Given the description of an element on the screen output the (x, y) to click on. 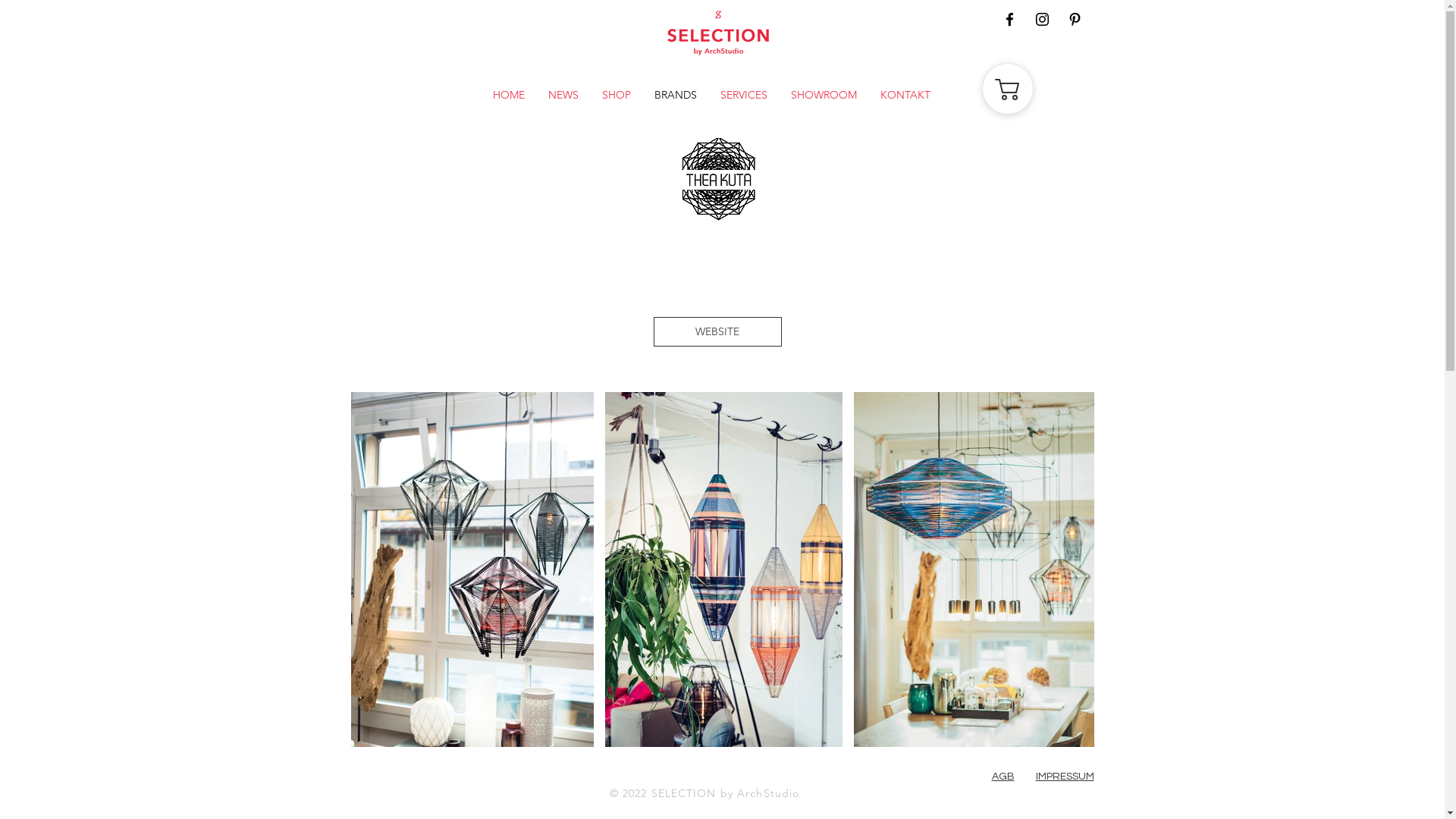
AGB Element type: text (1002, 776)
SHOWROOM Element type: text (823, 94)
SERVICES Element type: text (743, 94)
BRANDS Element type: text (675, 94)
HOME Element type: text (507, 94)
SHOP Element type: text (615, 94)
KONTAKT Element type: text (905, 94)
Online Store Element type: hover (993, 89)
WEBSITE Element type: text (717, 331)
IMPRESSUM Element type: text (1064, 776)
NEWS Element type: text (562, 94)
